Given the description of an element on the screen output the (x, y) to click on. 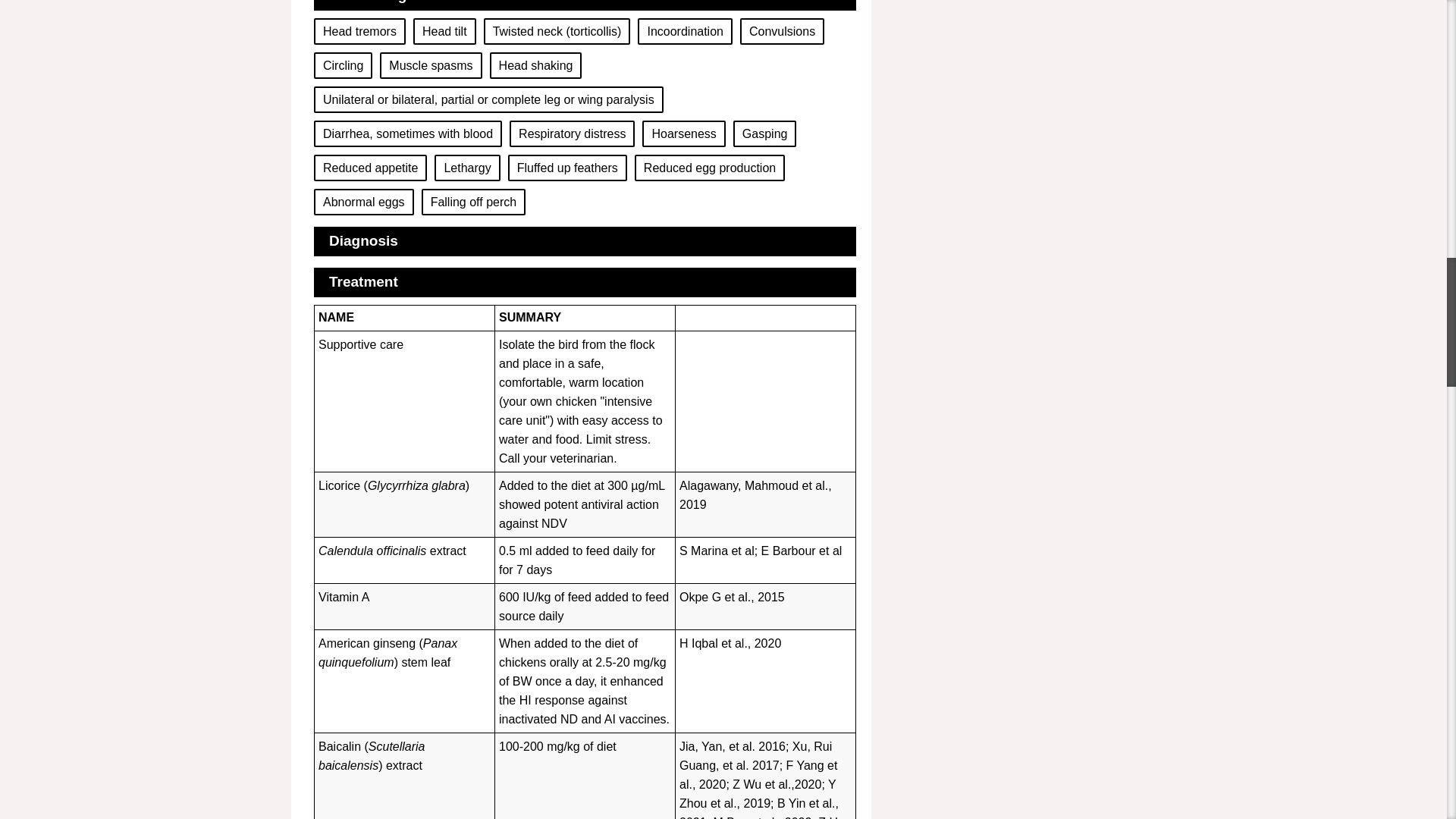
Diagnosis (363, 240)
Clinical Signs (376, 1)
